Given the description of an element on the screen output the (x, y) to click on. 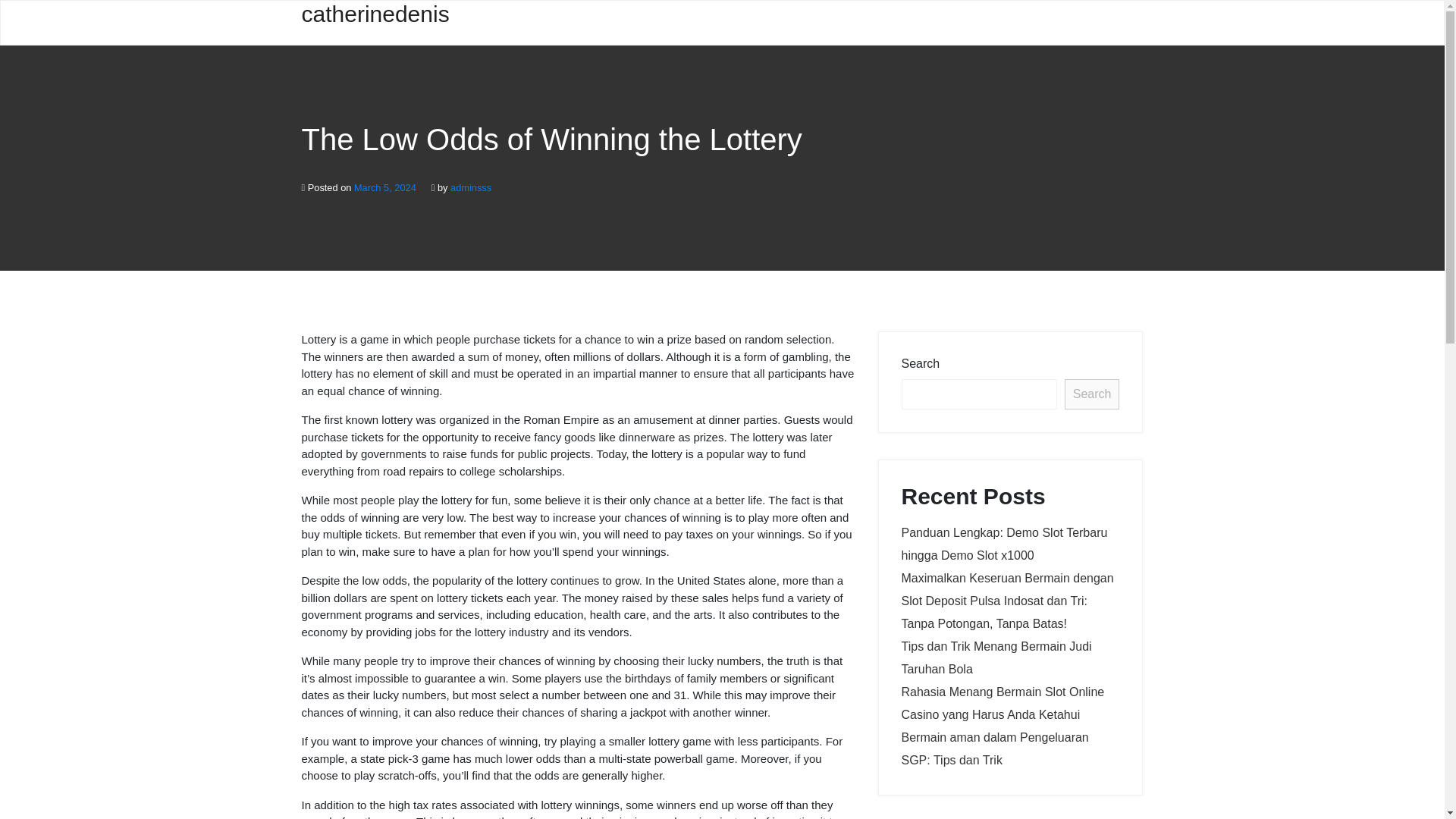
Bermain aman dalam Pengeluaran SGP: Tips dan Trik (994, 748)
Tips dan Trik Menang Bermain Judi Taruhan Bola (995, 657)
adminsss (470, 187)
March 5, 2024 (384, 187)
Panduan Lengkap: Demo Slot Terbaru hingga Demo Slot x1000 (1003, 543)
Search (1091, 394)
catherinedenis (375, 22)
